Given the description of an element on the screen output the (x, y) to click on. 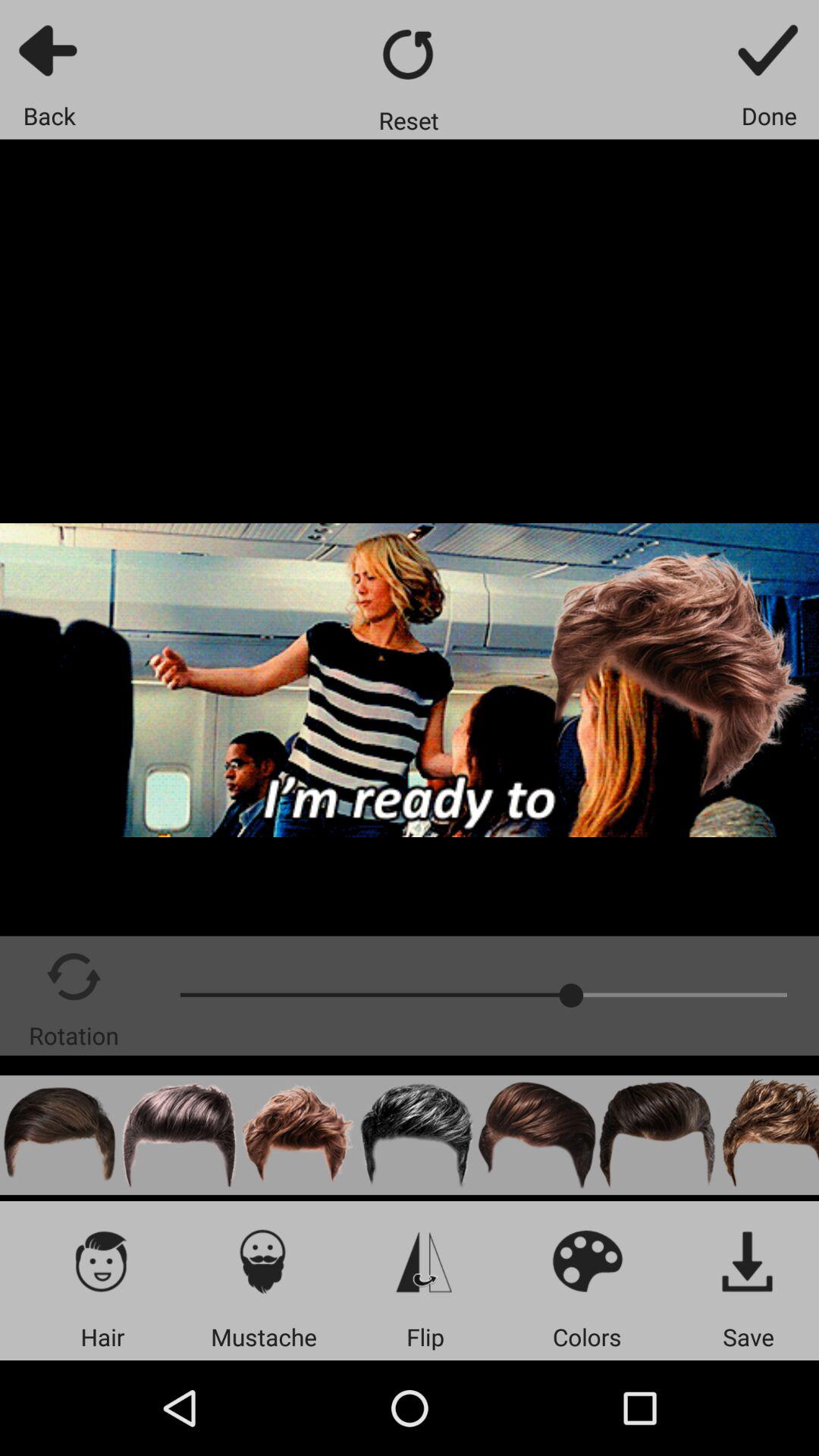
select hair style (656, 1134)
